Given the description of an element on the screen output the (x, y) to click on. 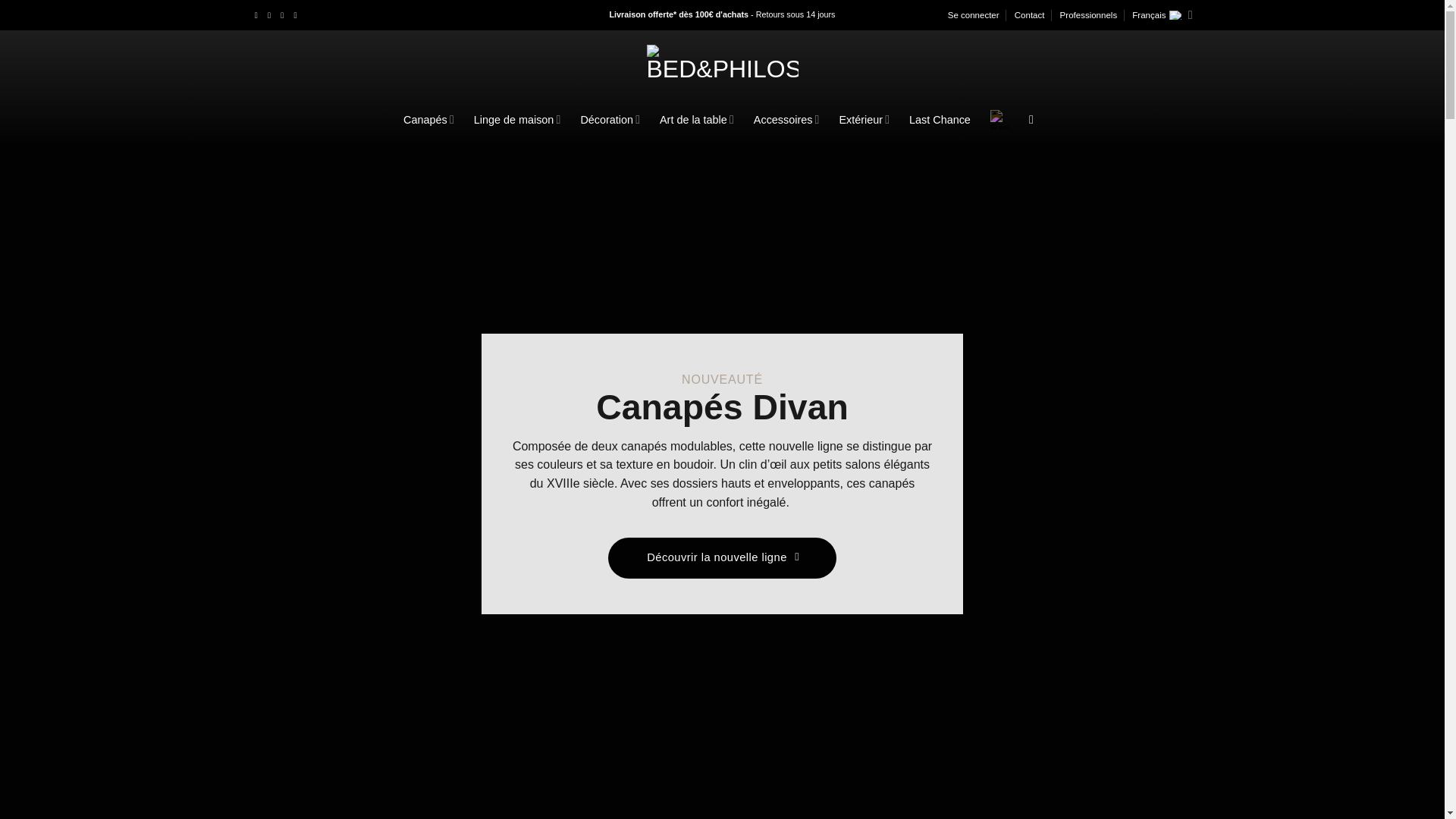
Nous suivre sur LinkedIn (298, 14)
Contact (1029, 14)
Se connecter (972, 14)
Nous suivre sur Instagram (271, 14)
Nous suivre sur Facebook (258, 14)
Nous suivre sur Pinterest (284, 14)
Professionnels (1088, 14)
Linge de maison (517, 119)
Se connecter (972, 14)
